Given the description of an element on the screen output the (x, y) to click on. 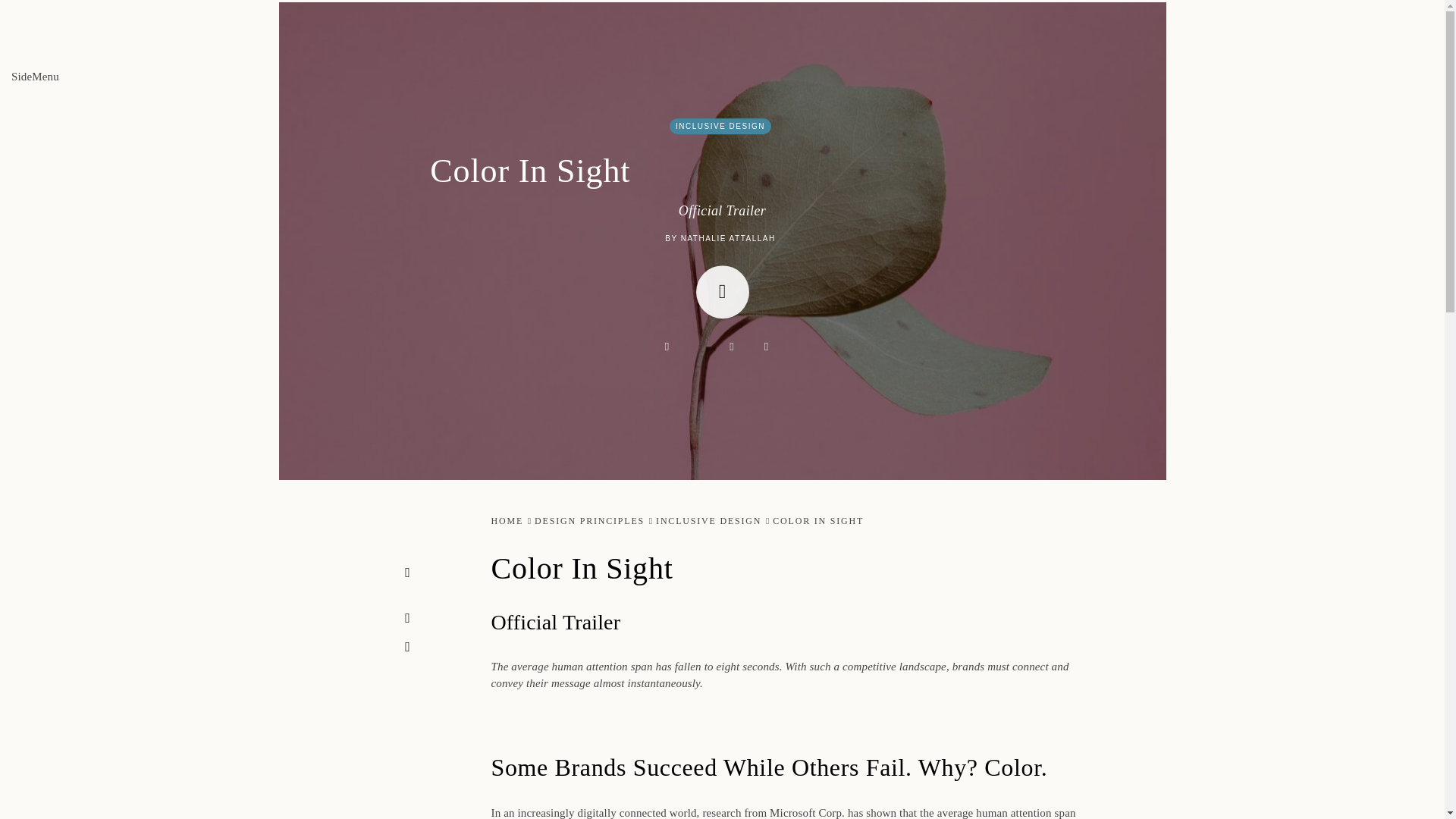
BY NATHALIE ATTALLAH (719, 238)
INCLUSIVE DESIGN (708, 520)
SideMenu (35, 76)
HOME (508, 520)
INCLUSIVE DESIGN (720, 125)
DESIGN PRINCIPLES (589, 520)
